Given the description of an element on the screen output the (x, y) to click on. 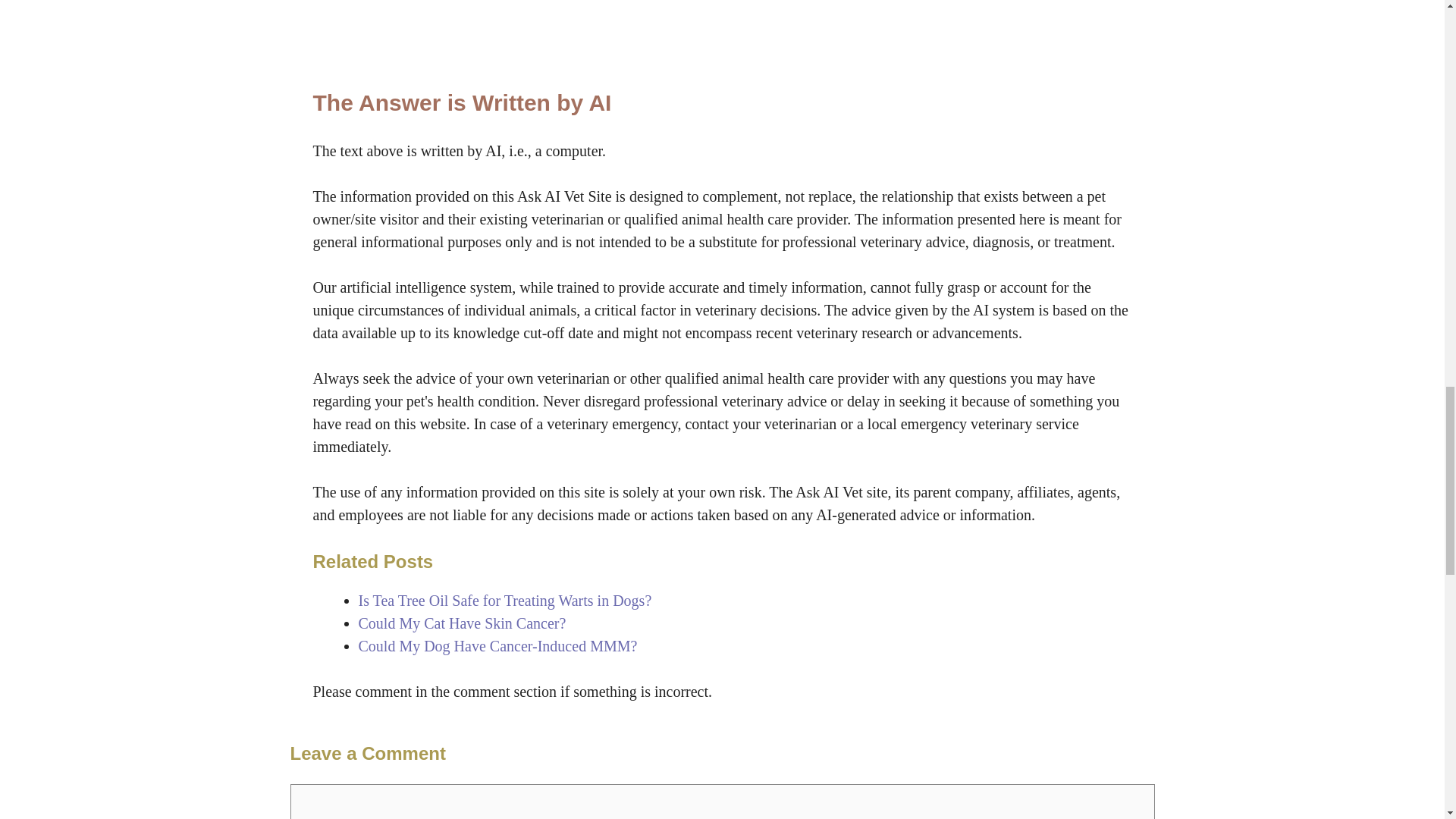
Could My Cat Have Skin Cancer? (462, 623)
Is Tea Tree Oil Safe for Treating Warts in Dogs? (504, 600)
Could My Dog Have Cancer-Induced MMM? (497, 646)
